Given the description of an element on the screen output the (x, y) to click on. 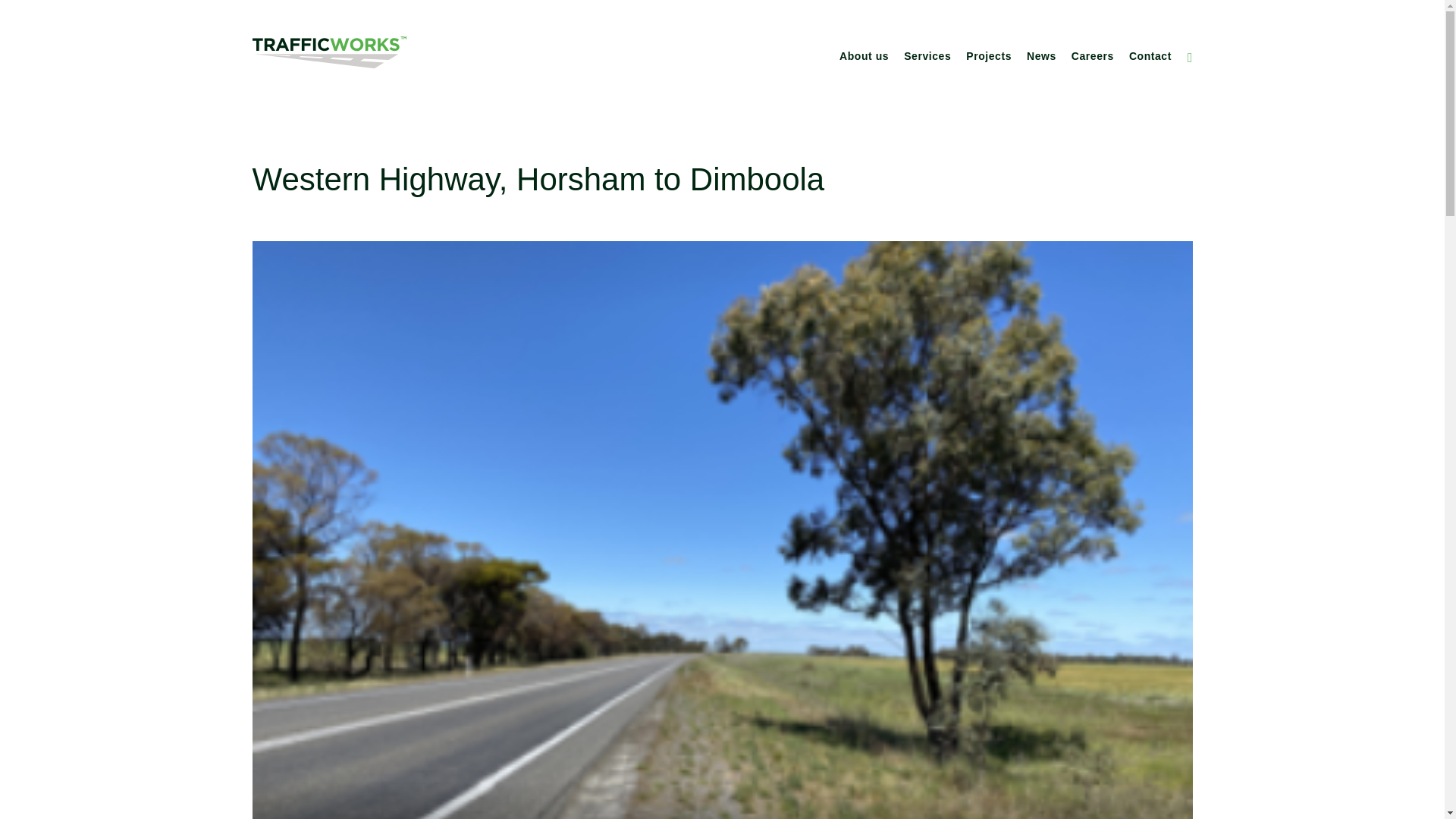
About us (864, 55)
Services (927, 55)
Traffic Works (328, 52)
News (1041, 55)
Projects (988, 55)
Careers (1092, 55)
Contact (1150, 55)
